Given the description of an element on the screen output the (x, y) to click on. 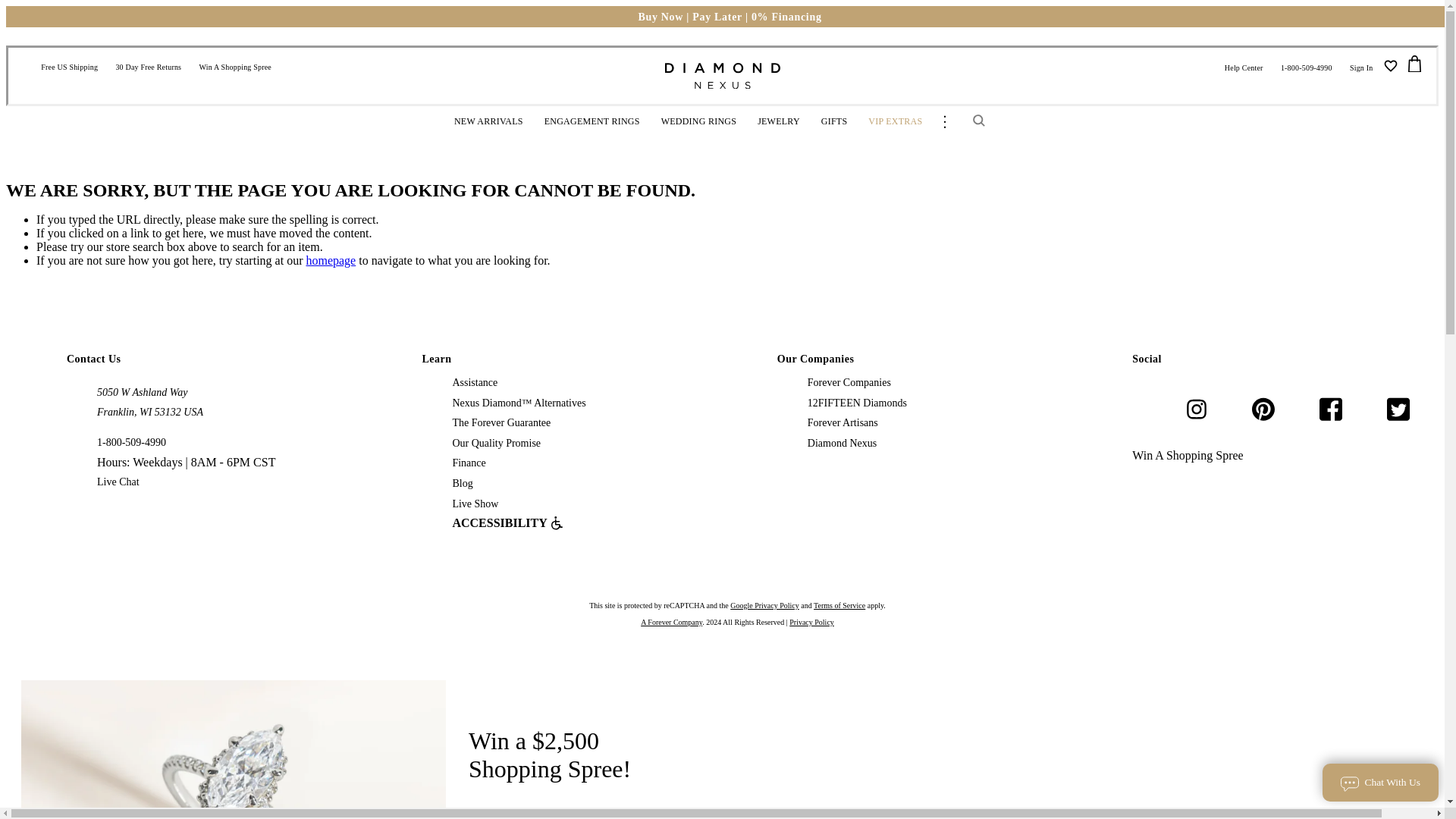
Free US Shipping (68, 66)
Cart (1414, 63)
1-800-509-4990 (1305, 67)
NEW ARRIVALS (489, 122)
Help Center  (1244, 67)
Win A Shopping Spree (234, 66)
30 Day Free Returns (148, 66)
Free US Shipping (68, 66)
Sign In (1361, 67)
Sign In (1361, 67)
